Given the description of an element on the screen output the (x, y) to click on. 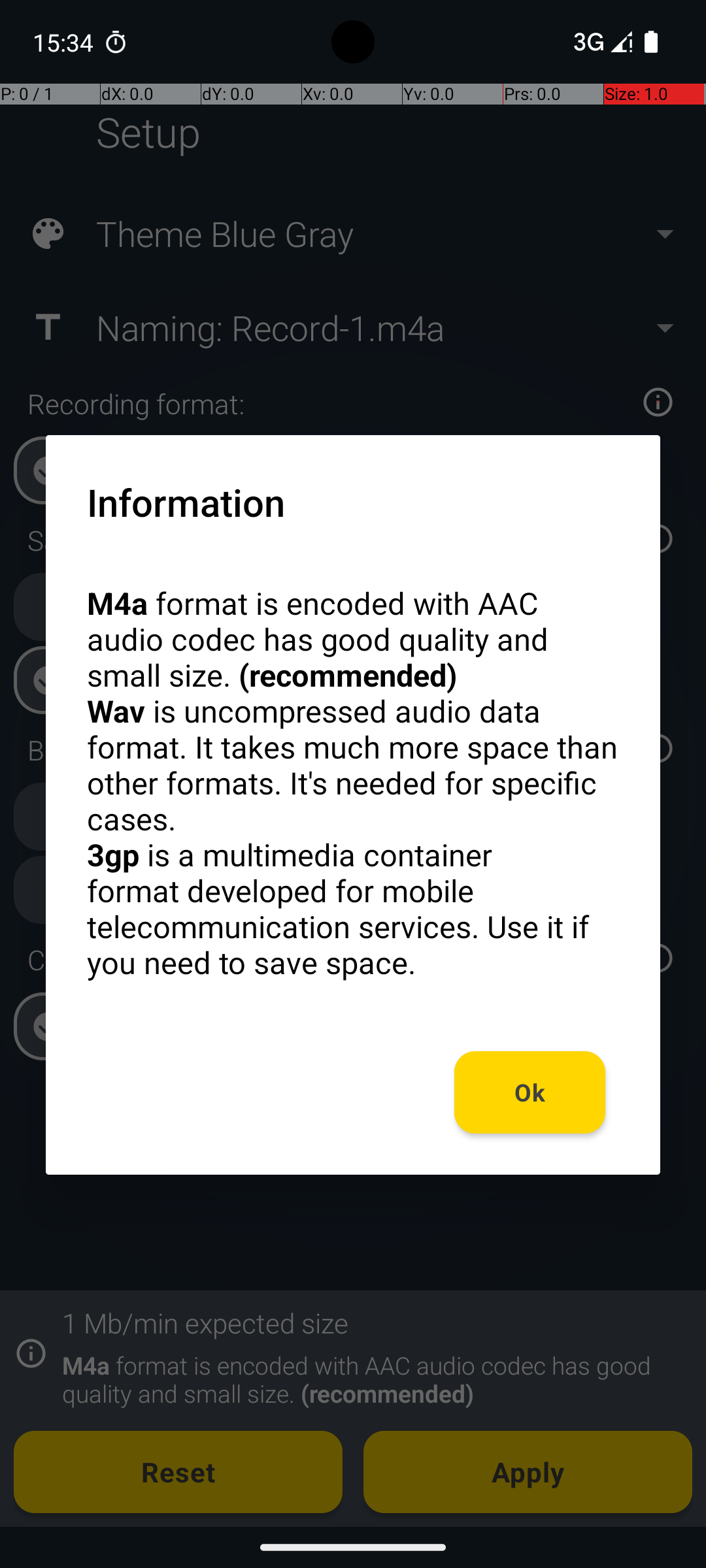
M4a format is encoded with AAC audio codec has good quality and small size. (recommended) 
Wav is uncompressed audio data format. It takes much more space than other formats. It's needed for specific cases. 
3gp is a multimedia container format developed for mobile telecommunication services. Use it if you need to save space.  Element type: android.widget.TextView (352, 782)
